Given the description of an element on the screen output the (x, y) to click on. 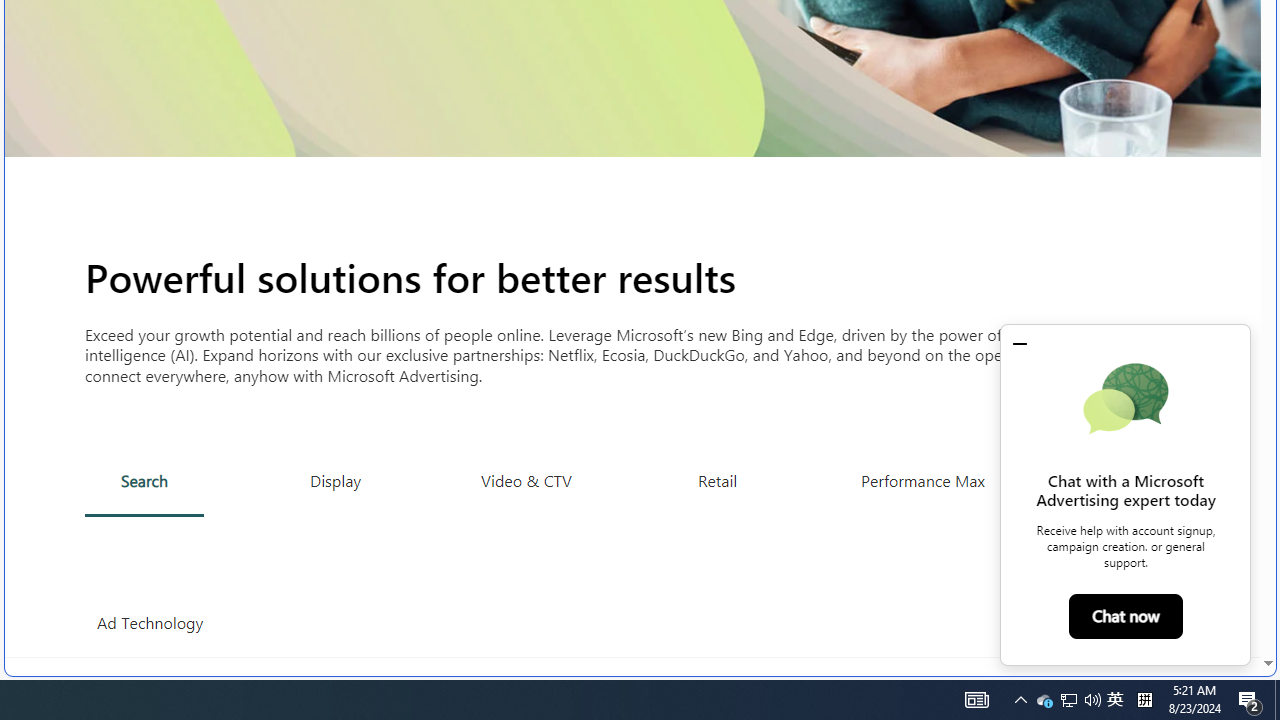
Video & CTV (526, 480)
Performance Max (922, 480)
Retail (716, 480)
Display (335, 480)
Ad Technology (150, 623)
